Given the description of an element on the screen output the (x, y) to click on. 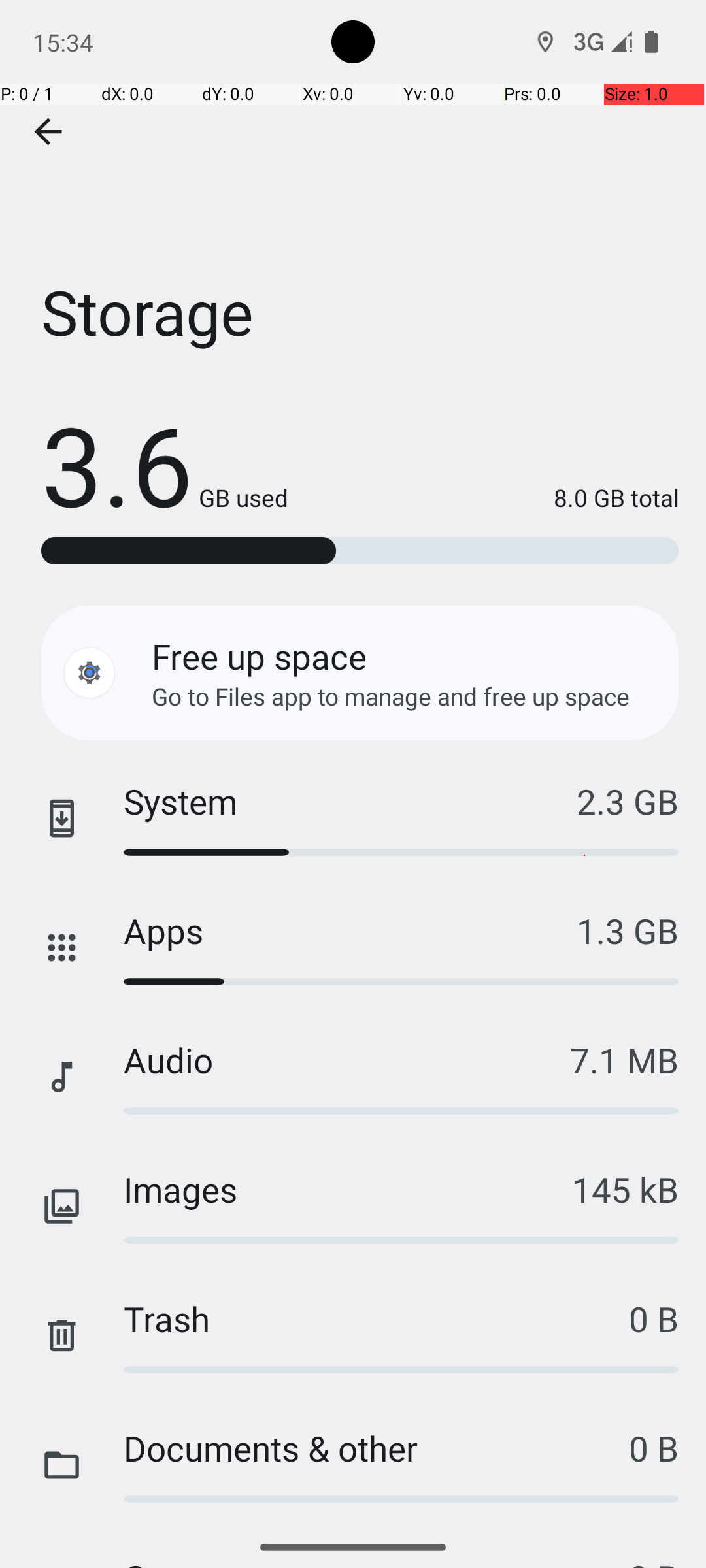
3.6 GB used Element type: android.widget.TextView (164, 463)
8.0 GB total Element type: android.widget.TextView (483, 497)
Free up space Element type: android.widget.TextView (258, 656)
Go to Files app to manage and free up space Element type: android.widget.TextView (390, 695)
2.3 GB Element type: android.widget.TextView (627, 801)
1.3 GB Element type: android.widget.TextView (627, 930)
7.1 MB Element type: android.widget.TextView (624, 1059)
145 kB Element type: android.widget.TextView (624, 1189)
0 B Element type: android.widget.TextView (653, 1318)
Documents & other Element type: android.widget.TextView (375, 1447)
